Given the description of an element on the screen output the (x, y) to click on. 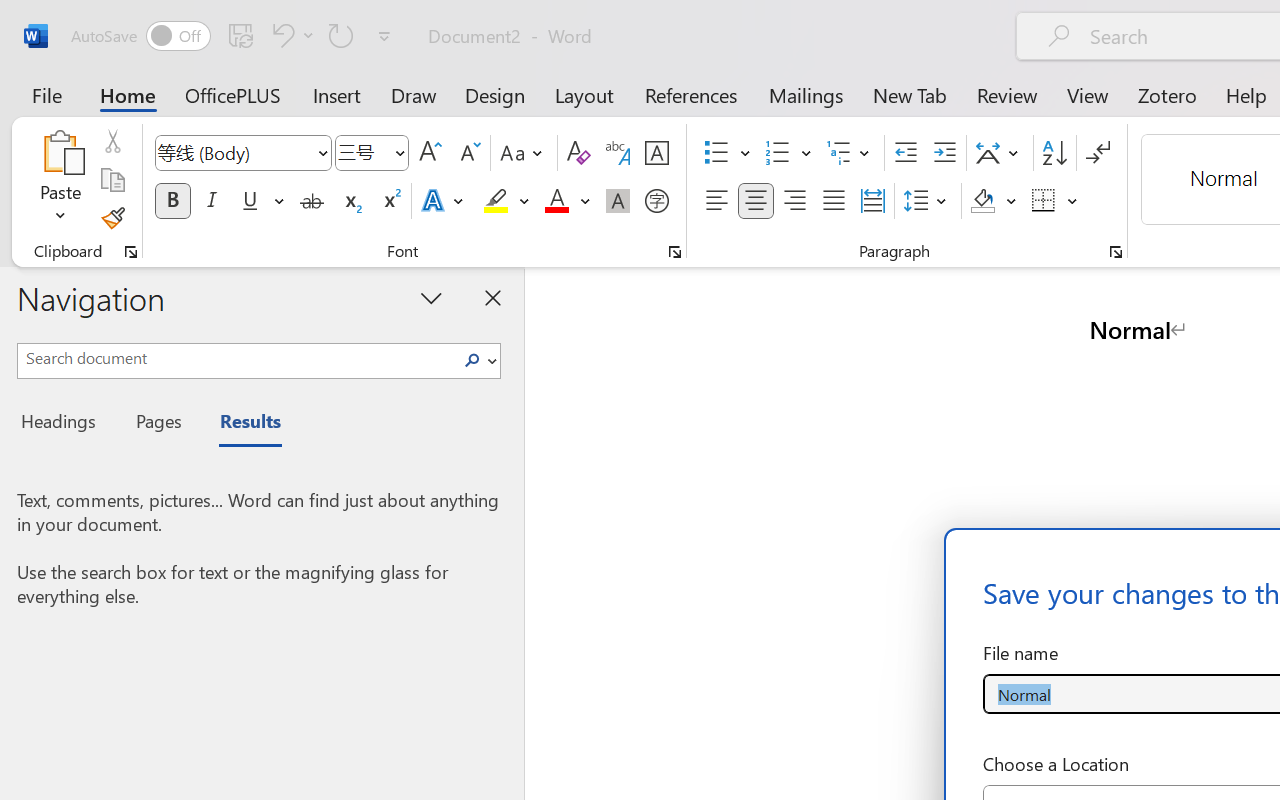
Cut (112, 141)
References (690, 94)
Zotero (1166, 94)
Task Pane Options (431, 297)
Phonetic Guide... (618, 153)
Grow Font (430, 153)
Justify (834, 201)
Show/Hide Editing Marks (1098, 153)
Sort... (1054, 153)
